Given the description of an element on the screen output the (x, y) to click on. 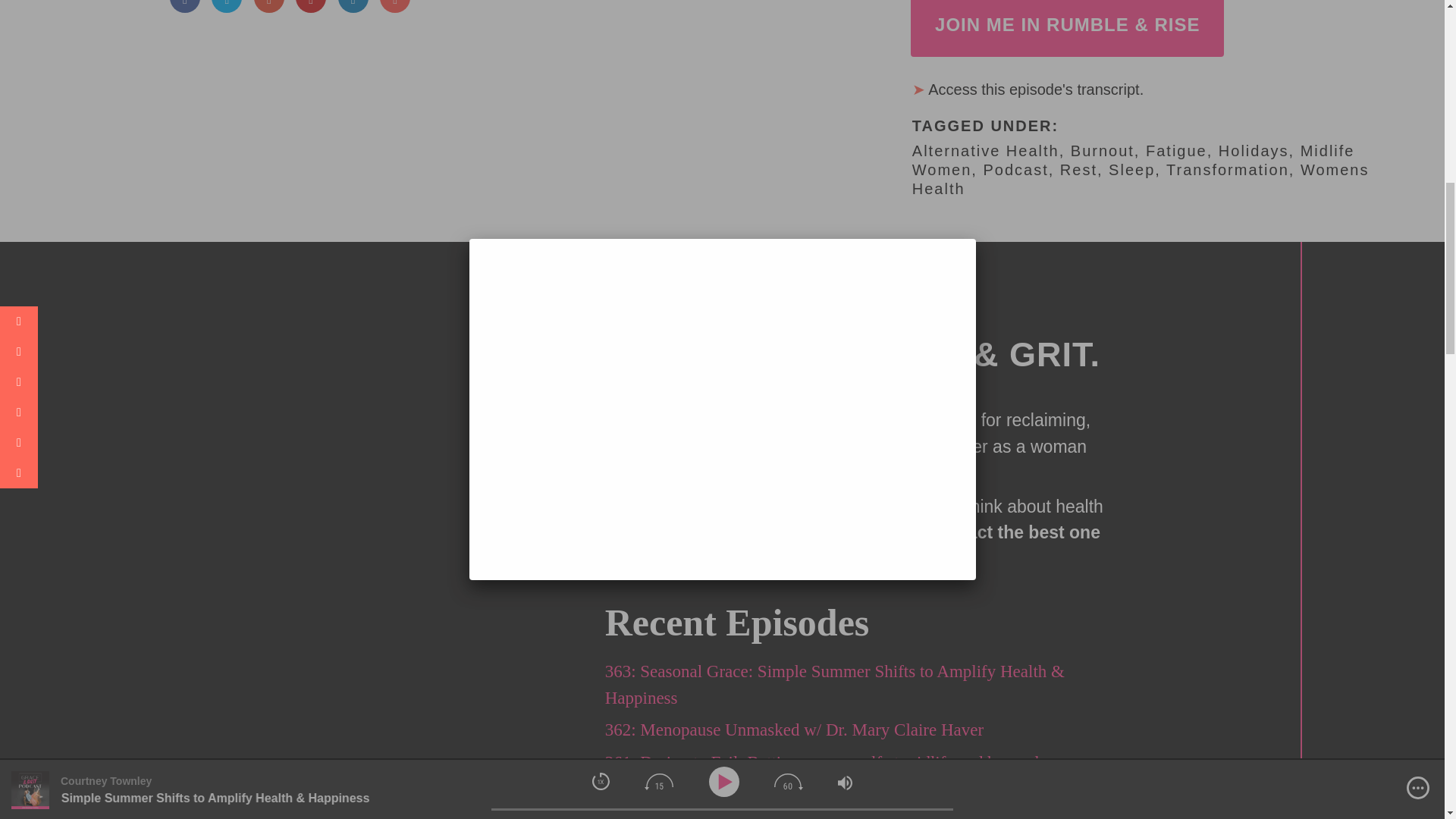
Holidays (1253, 150)
Burnout (1102, 150)
Midlife Women (1133, 160)
Alternative Health (985, 150)
Fatigue (1176, 150)
Podcast (1015, 169)
